Given the description of an element on the screen output the (x, y) to click on. 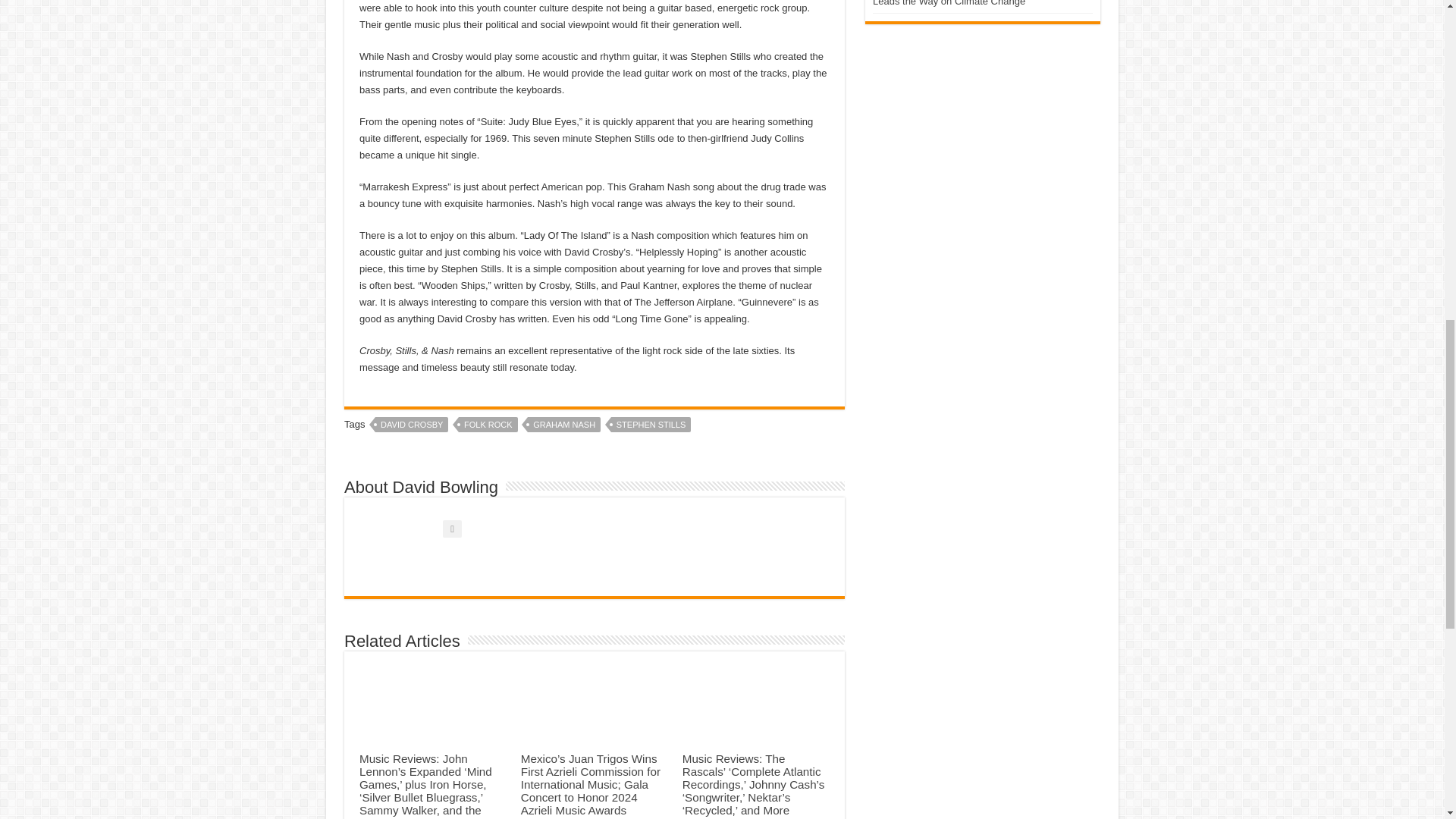
Scroll To Top (1421, 60)
